Given the description of an element on the screen output the (x, y) to click on. 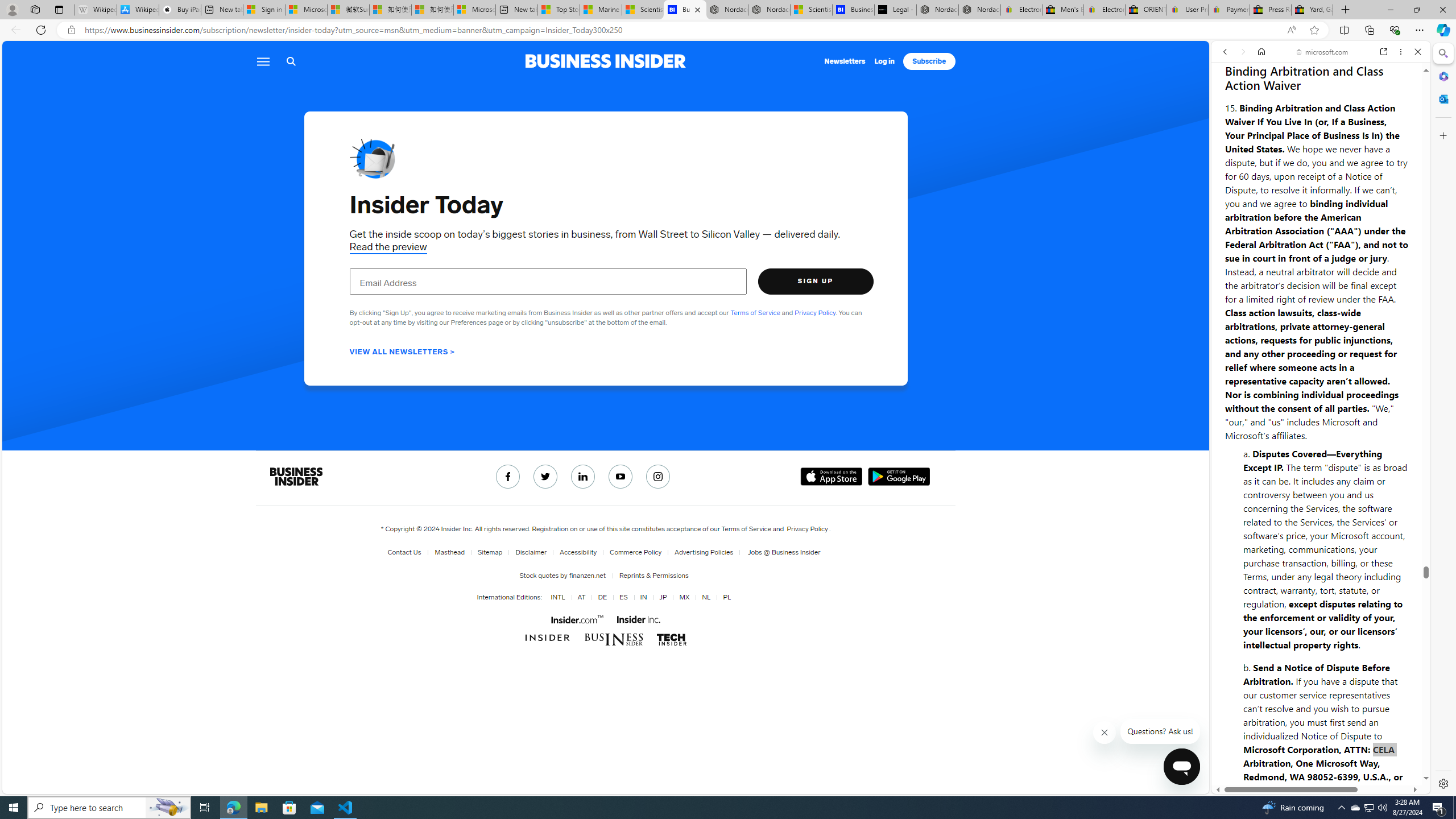
Get it on Google Play (898, 476)
PL (724, 597)
MX (684, 597)
Close message from company (1104, 732)
Connect with us on LinkedIn (582, 476)
